Given the description of an element on the screen output the (x, y) to click on. 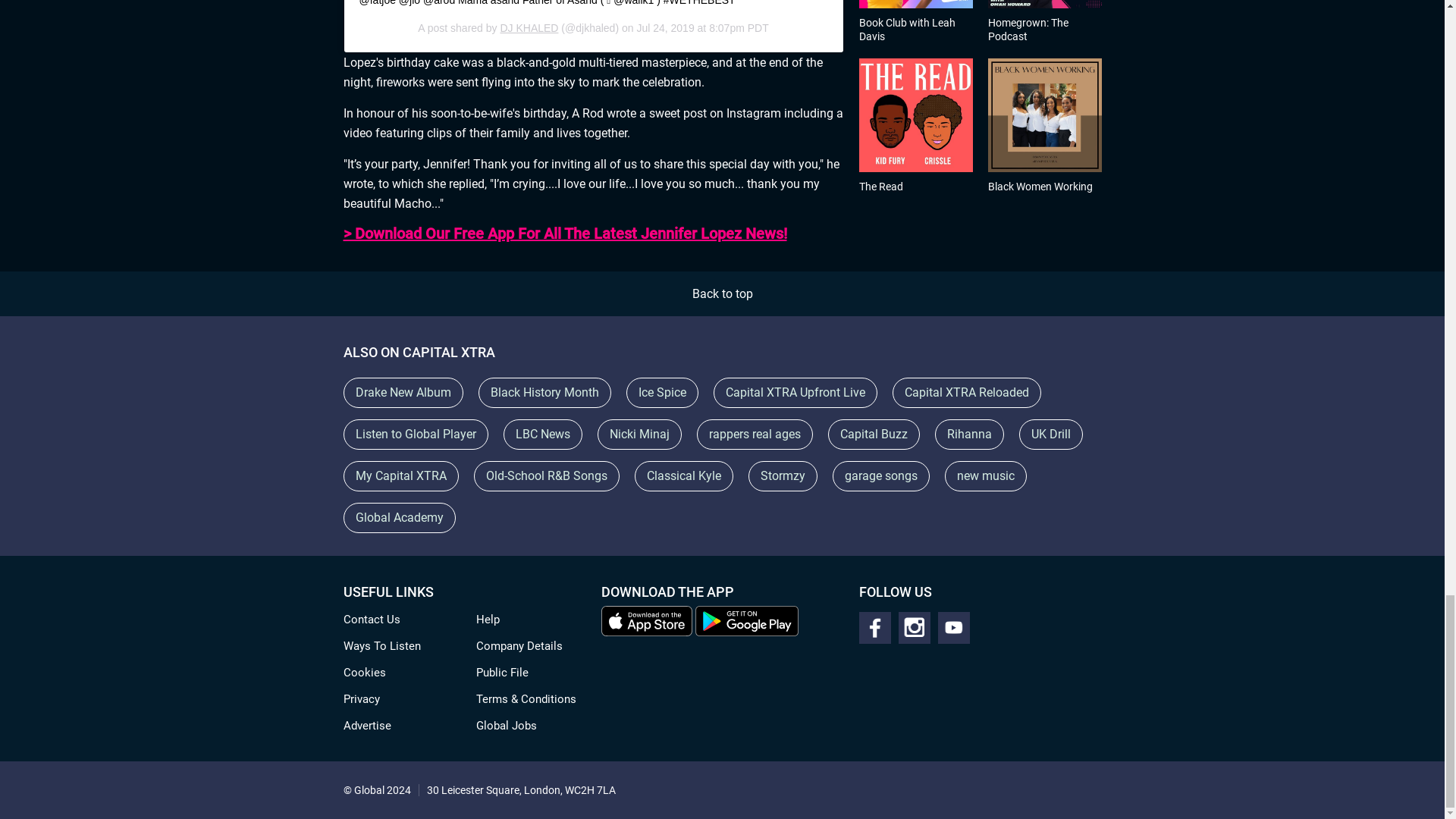
Follow CapitalXtra on Youtube (953, 627)
Follow CapitalXtra on Instagram (914, 627)
DJ KHALED (528, 28)
Back to top (721, 293)
Follow CapitalXtra on Facebook (874, 627)
